Given the description of an element on the screen output the (x, y) to click on. 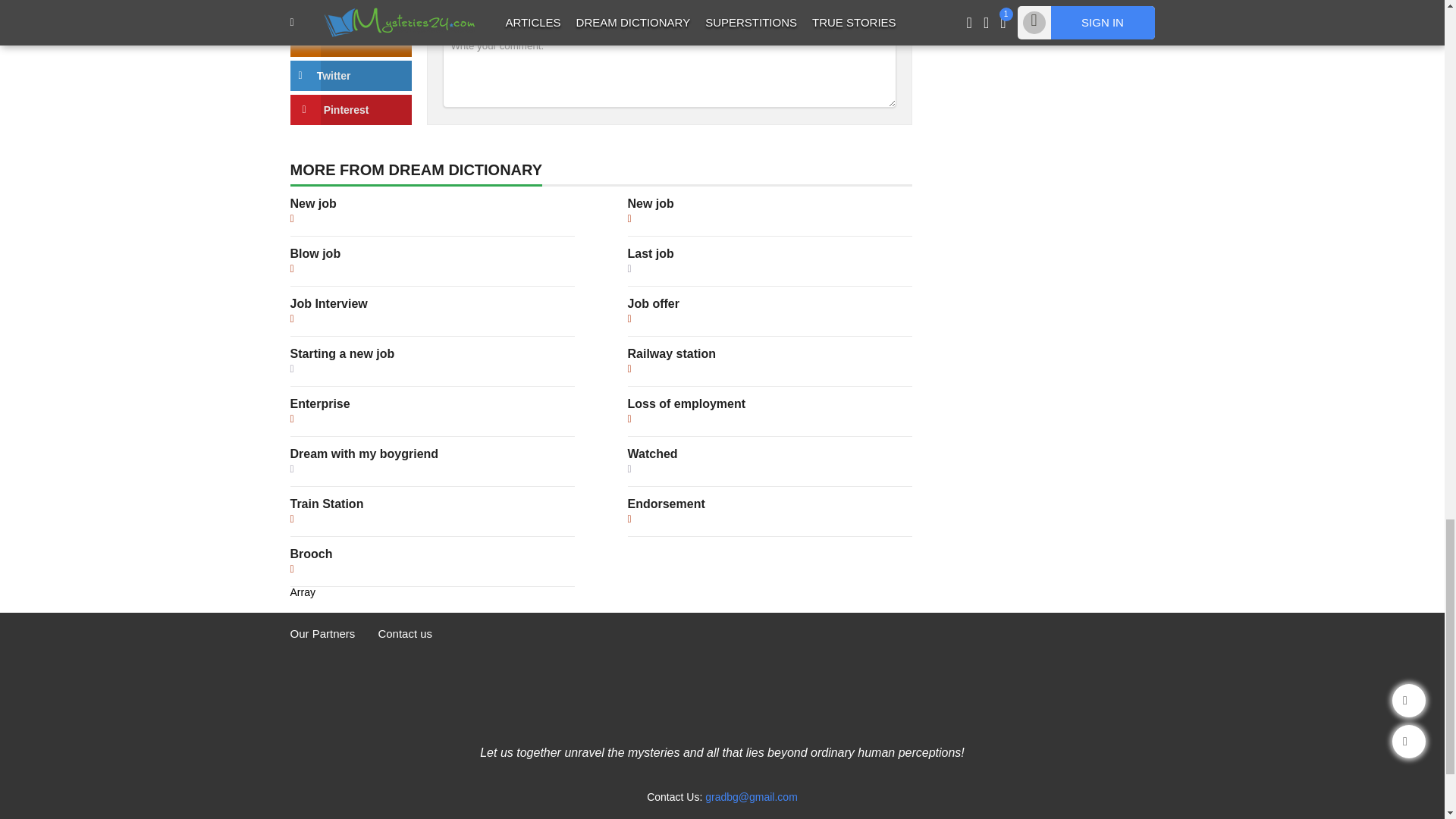
New job (650, 203)
Job Interview (327, 303)
New job (312, 203)
Blow job (314, 253)
Last job (650, 253)
